Given the description of an element on the screen output the (x, y) to click on. 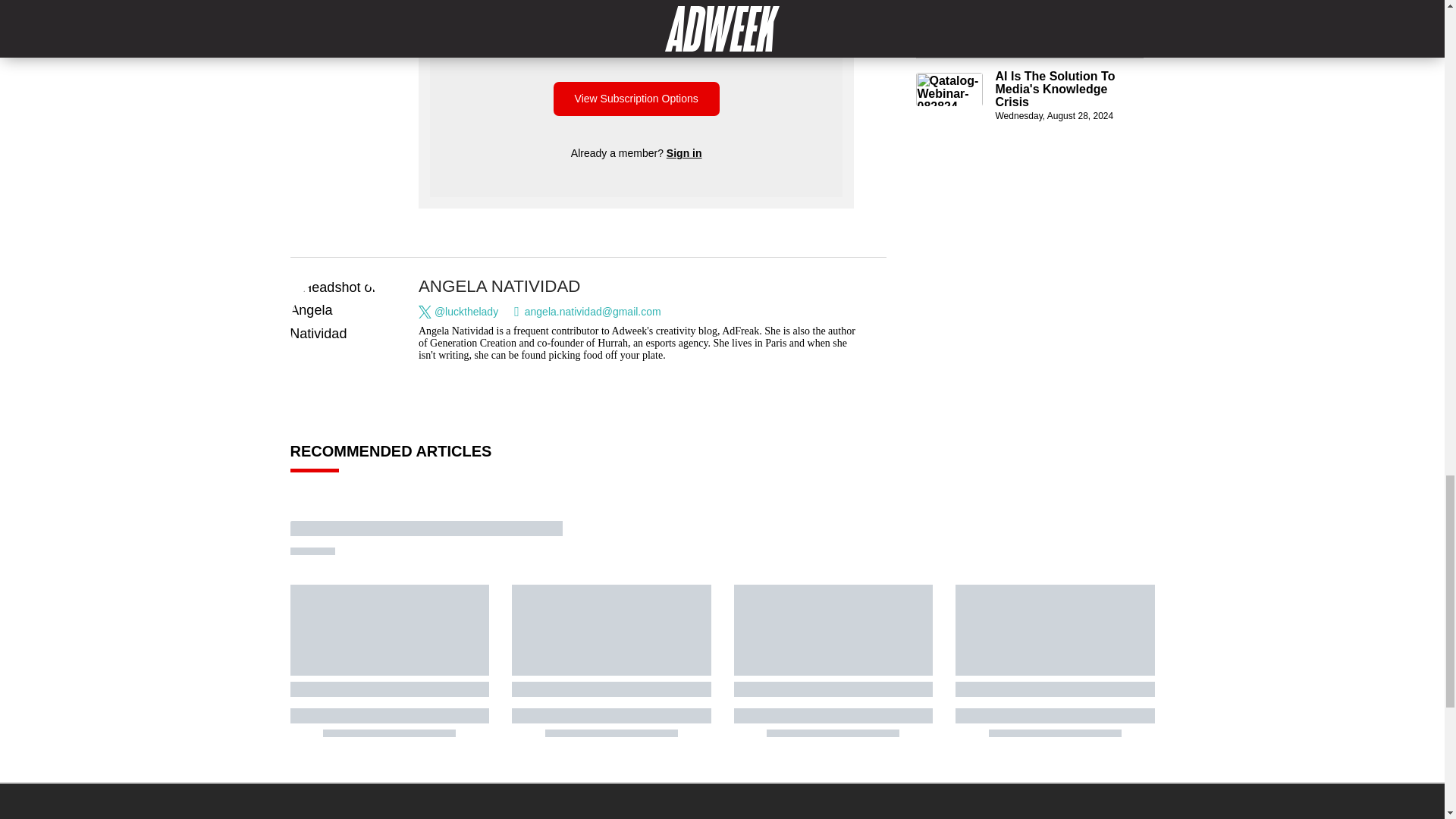
View Subscription Options (636, 98)
Qatalog-Webinar-082824-Header (948, 89)
Adobe-Webinar-082224-Header (948, 14)
Sign in (683, 152)
ANGELA NATIVIDAD (499, 285)
